Given the description of an element on the screen output the (x, y) to click on. 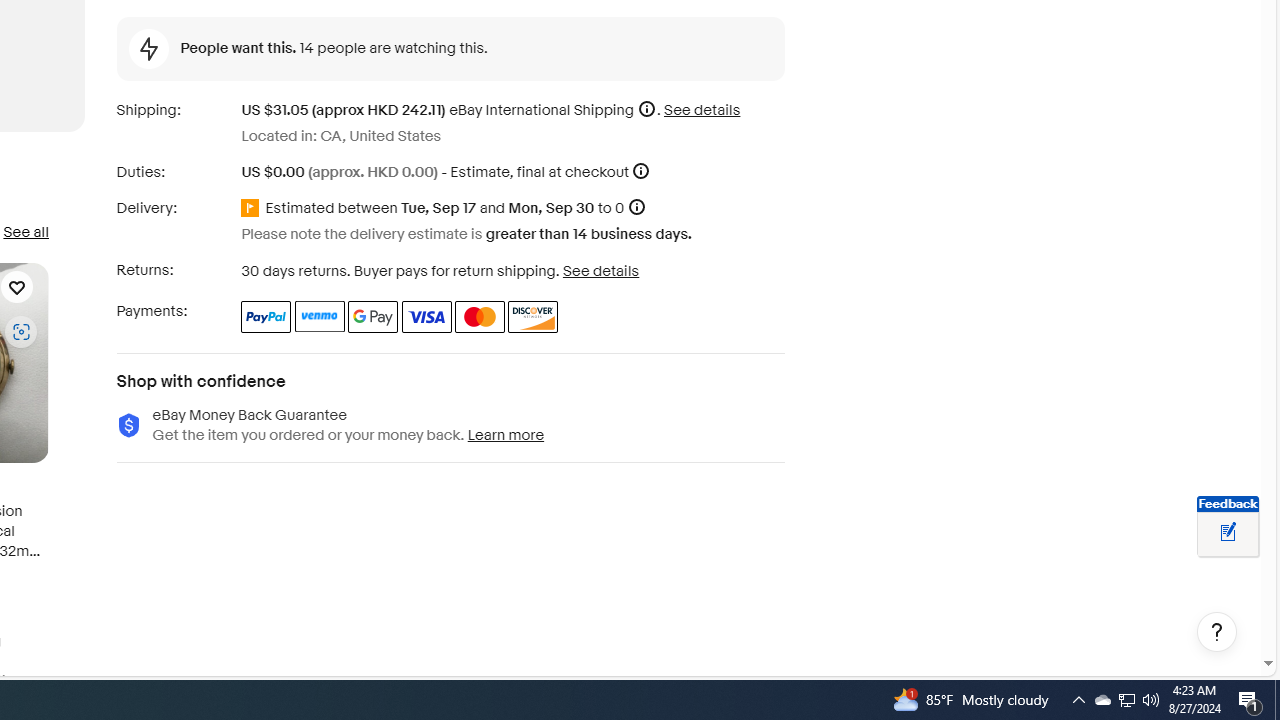
Help, opens dialogs (1217, 632)
